Given the description of an element on the screen output the (x, y) to click on. 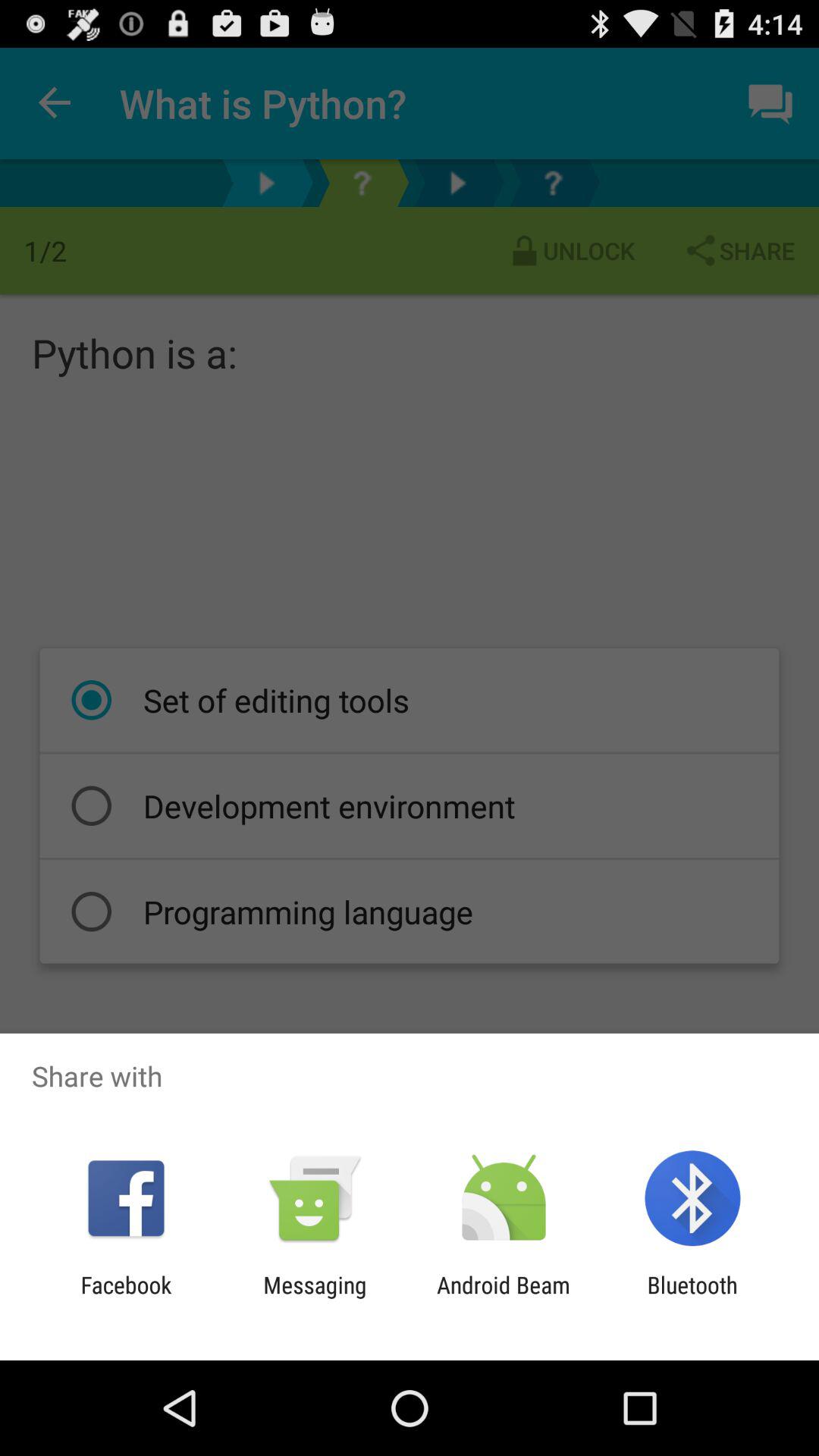
open icon to the left of the messaging item (125, 1298)
